Given the description of an element on the screen output the (x, y) to click on. 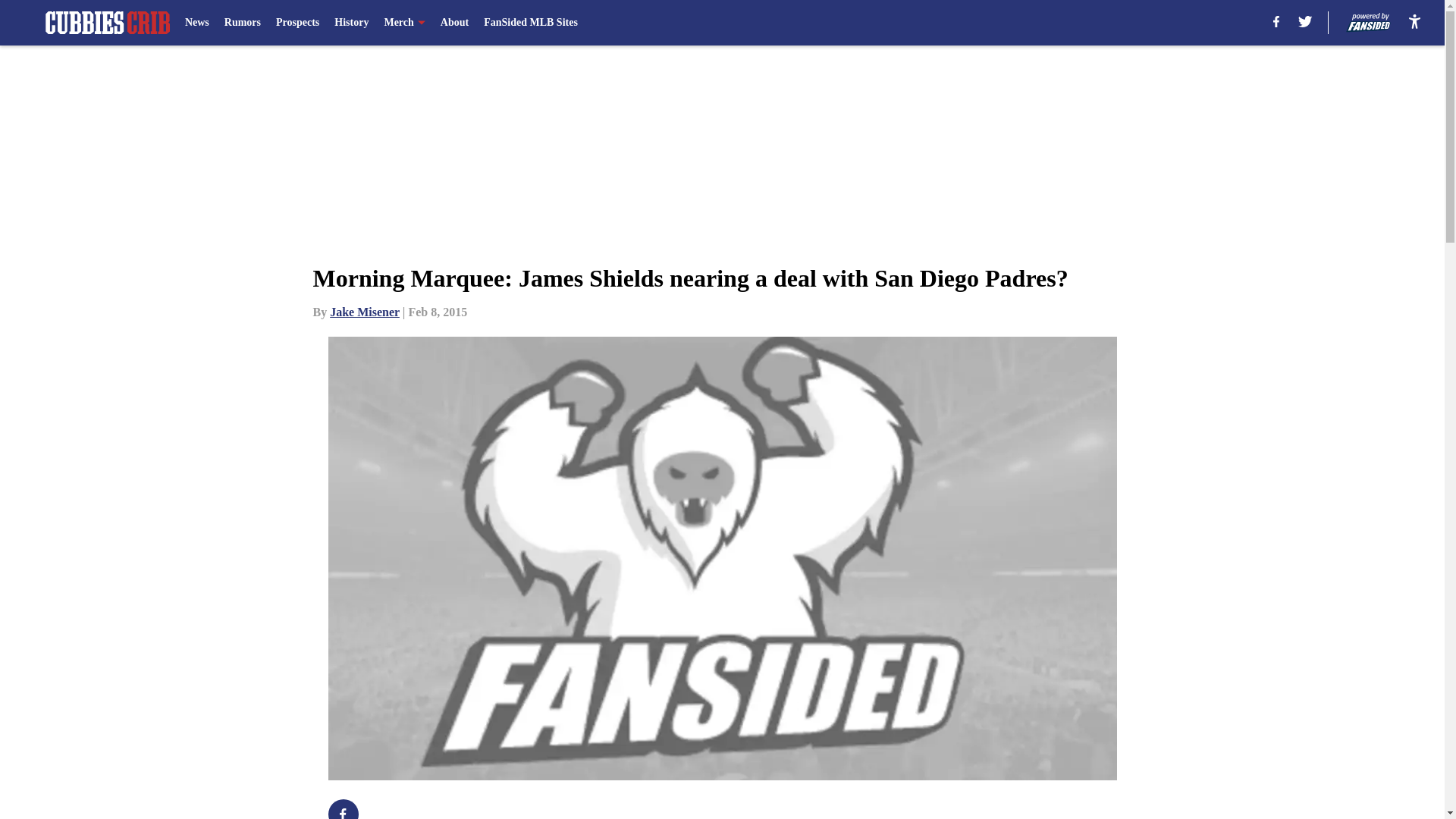
News (196, 22)
History (351, 22)
Jake Misener (364, 311)
About (454, 22)
FanSided MLB Sites (530, 22)
Rumors (242, 22)
Prospects (297, 22)
